Given the description of an element on the screen output the (x, y) to click on. 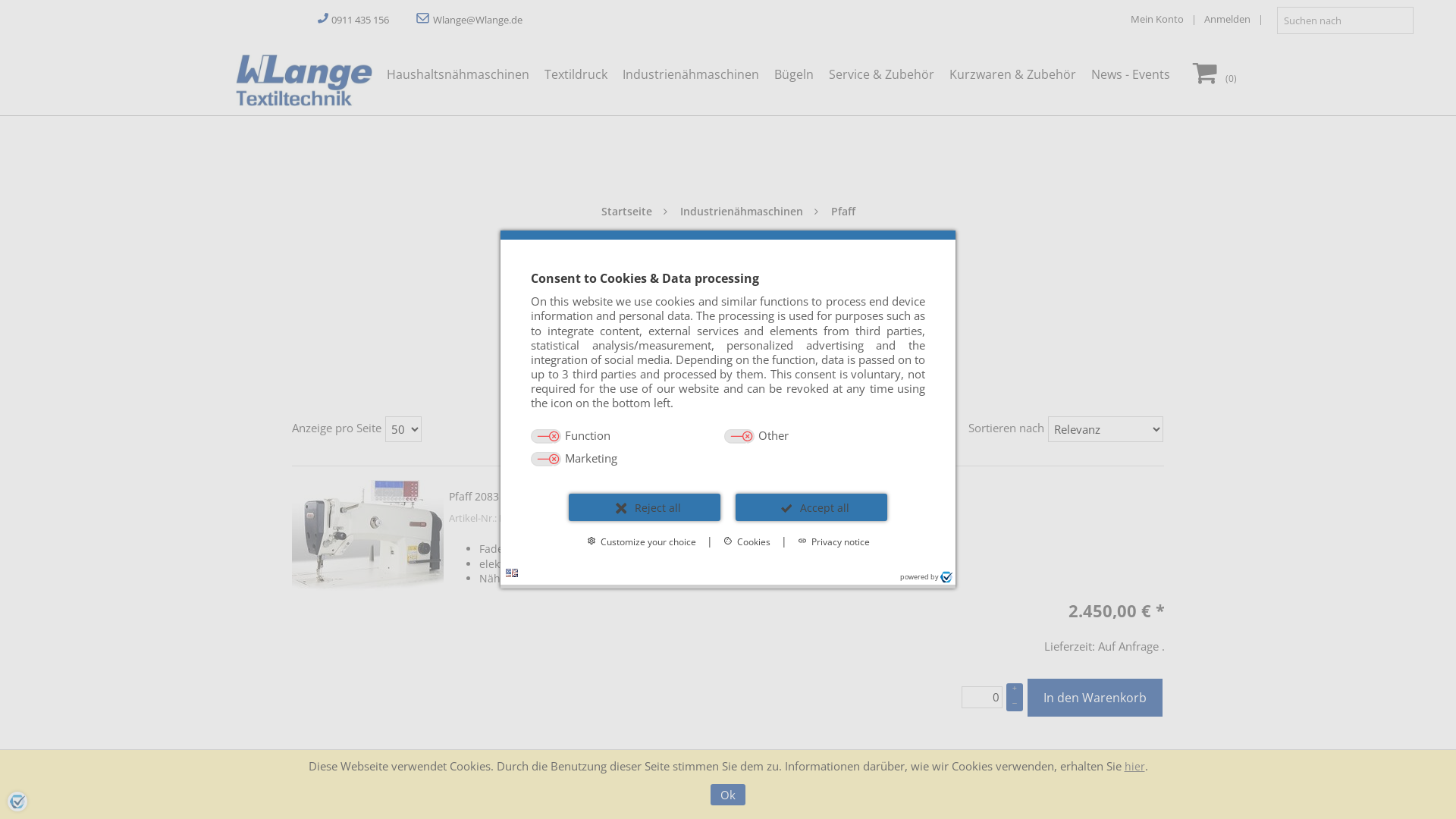
Textildruck Element type: text (583, 74)
Ersatzteile Element type: text (727, 360)
Language: en Element type: hover (511, 572)
Reject all Element type: text (644, 506)
News - Events Element type: text (1133, 74)
+ Element type: text (1014, 689)
Suche starten Element type: hover (1399, 20)
Language: en Element type: hover (511, 572)
Ok Element type: text (727, 794)
News - Events Element type: hover (303, 80)
Anmelden Element type: text (1237, 19)
Privacy settings Element type: hover (17, 801)
Customize your choice Element type: text (641, 541)
In den Warenkorb Element type: text (1094, 697)
hier Element type: text (1133, 766)
Startseite Element type: text (627, 210)
Privacy notice Element type: text (833, 541)
Accept all Element type: text (811, 506)
Cookies Element type: text (746, 541)
8330Bekleidung_800px-removebg-preview2 Element type: hover (727, 316)
Mein Konto Element type: text (1167, 19)
Zum Produkt Element type: hover (367, 535)
